Given the description of an element on the screen output the (x, y) to click on. 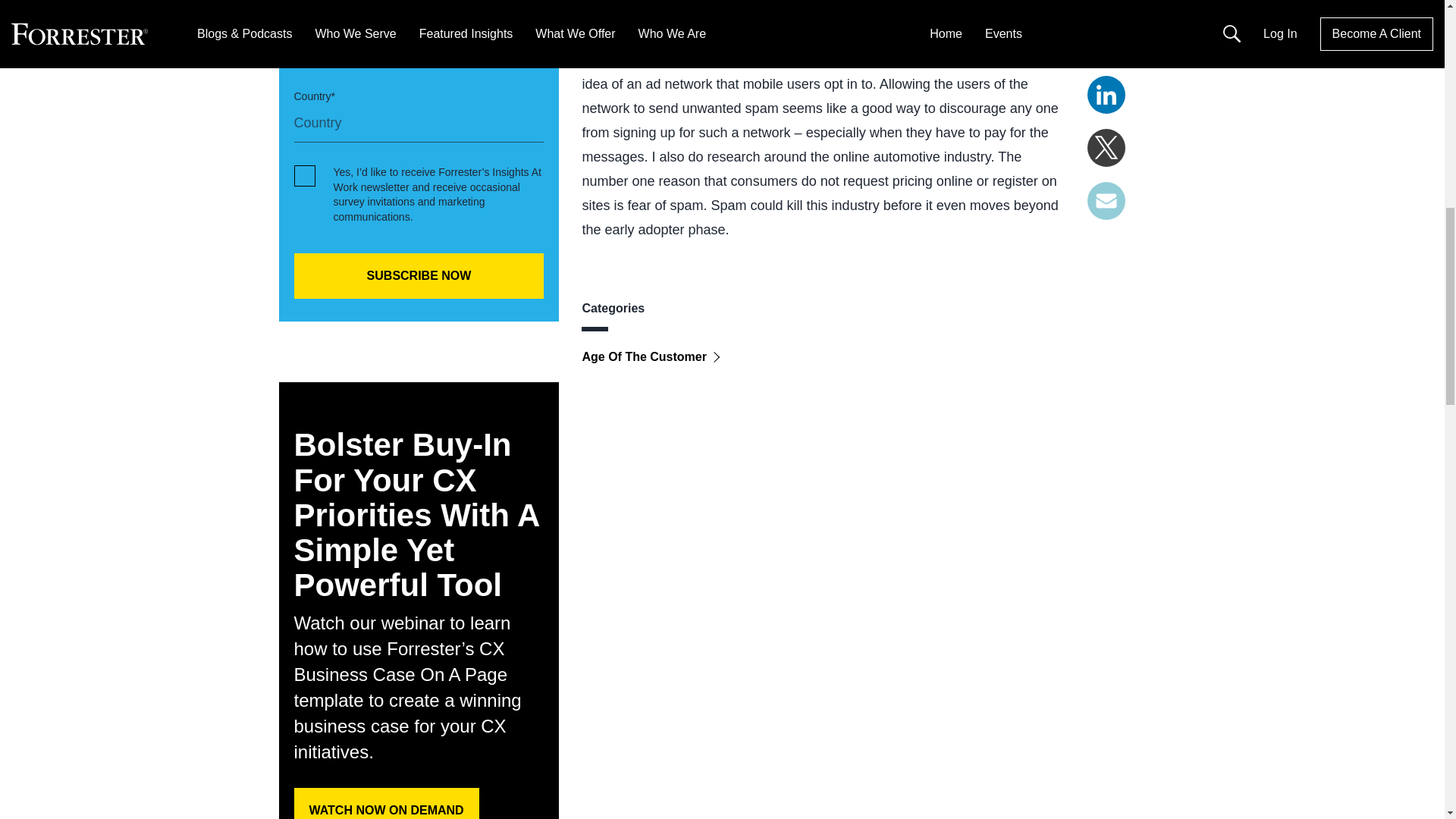
Subscribe Now (419, 275)
